Given the description of an element on the screen output the (x, y) to click on. 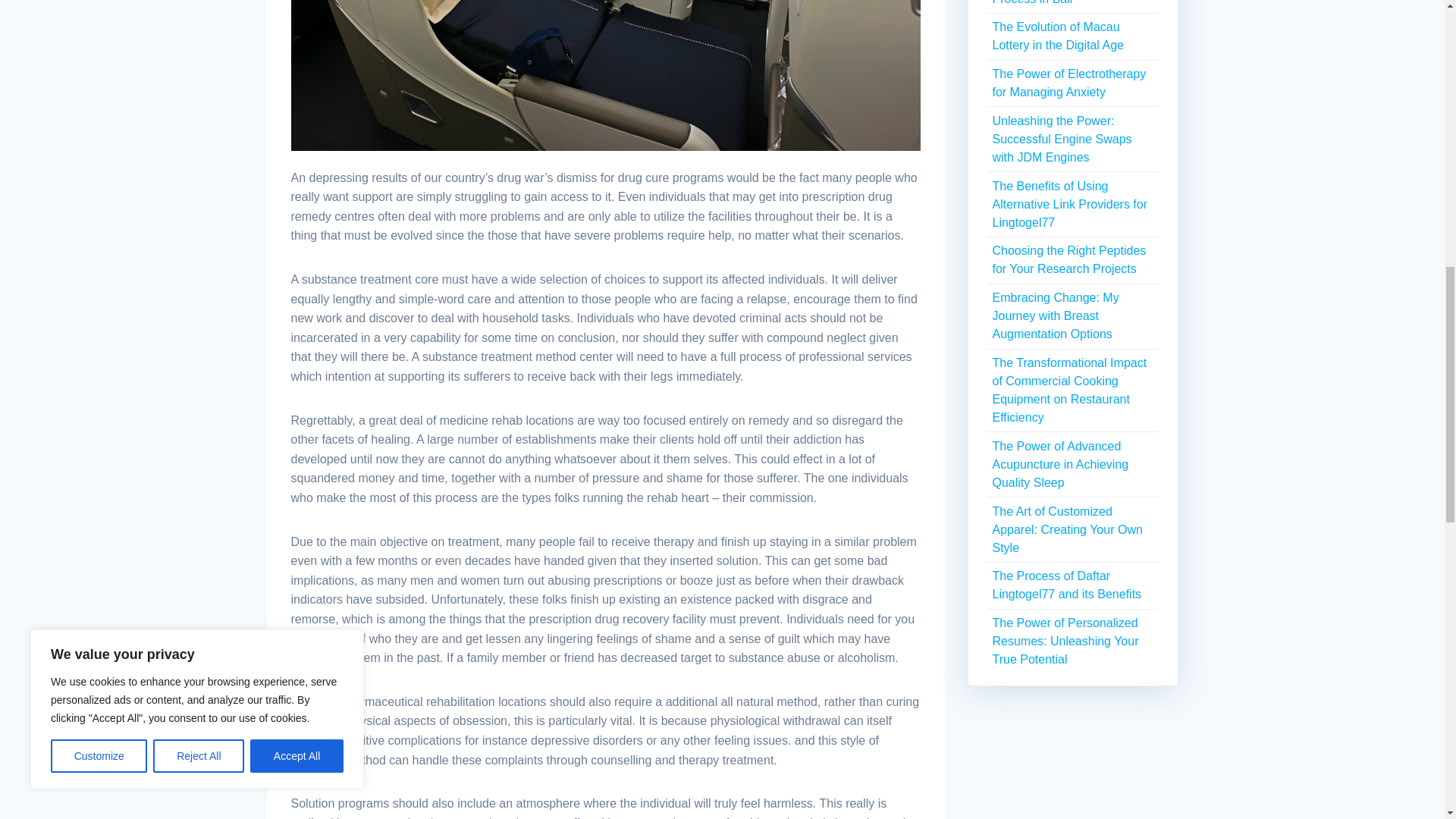
The Power of Electrotherapy for Managing Anxiety (1068, 82)
Choosing the Right Peptides for Your Research Projects (1068, 259)
The Evolution of Macau Lottery in the Digital Age (1056, 35)
Navigating the Real Estate Process in Bali (1063, 2)
